Given the description of an element on the screen output the (x, y) to click on. 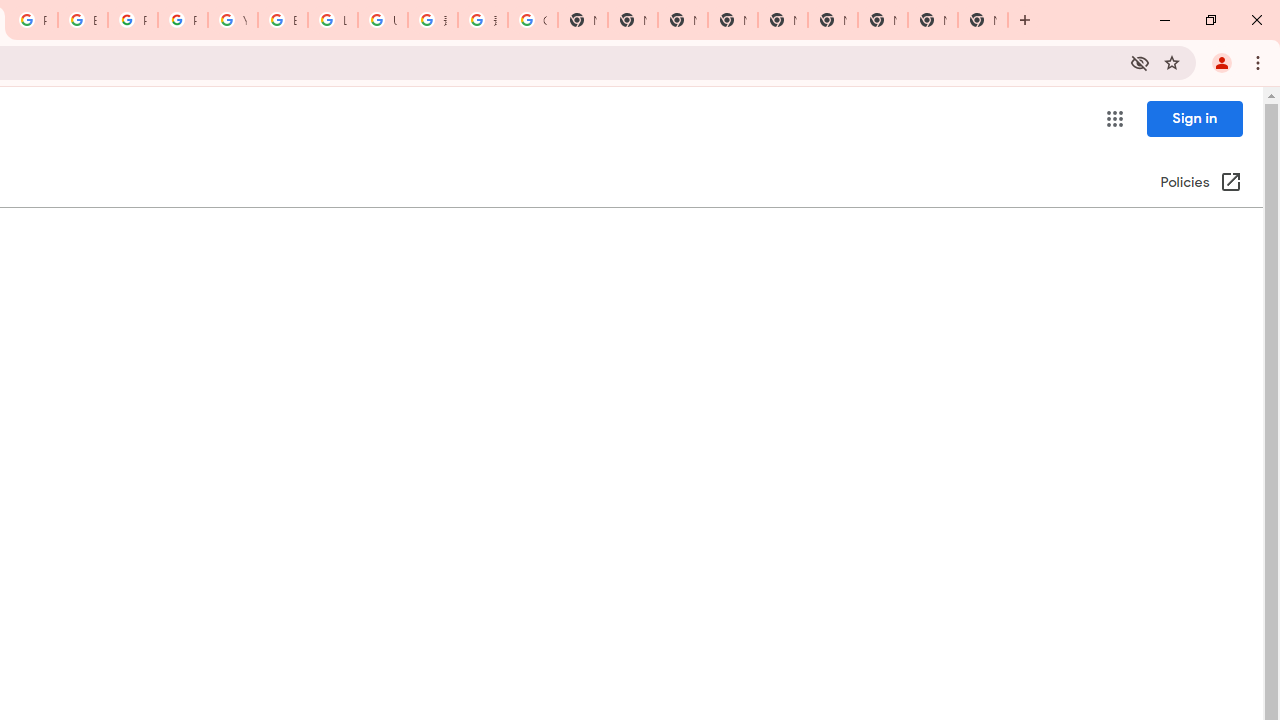
New Tab (982, 20)
YouTube (232, 20)
Google Images (533, 20)
New Tab (732, 20)
Policies (Open in a new window) (1200, 183)
